Given the description of an element on the screen output the (x, y) to click on. 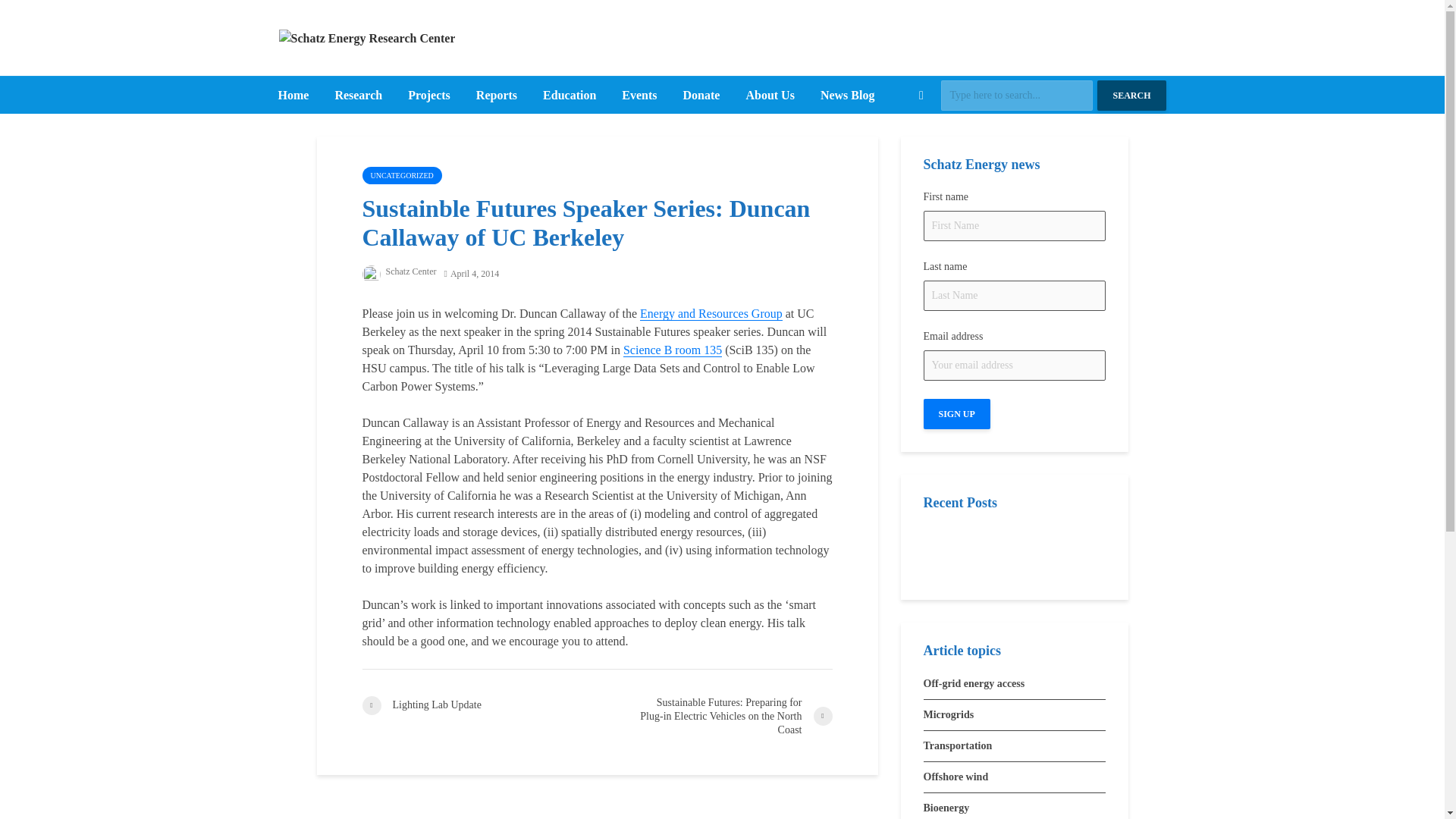
Sign up (956, 413)
Education (569, 95)
Donate (701, 95)
Reports (496, 95)
Research (358, 95)
Events (639, 95)
Projects (428, 95)
Home (293, 95)
About Us (769, 95)
News Blog (847, 95)
